Given the description of an element on the screen output the (x, y) to click on. 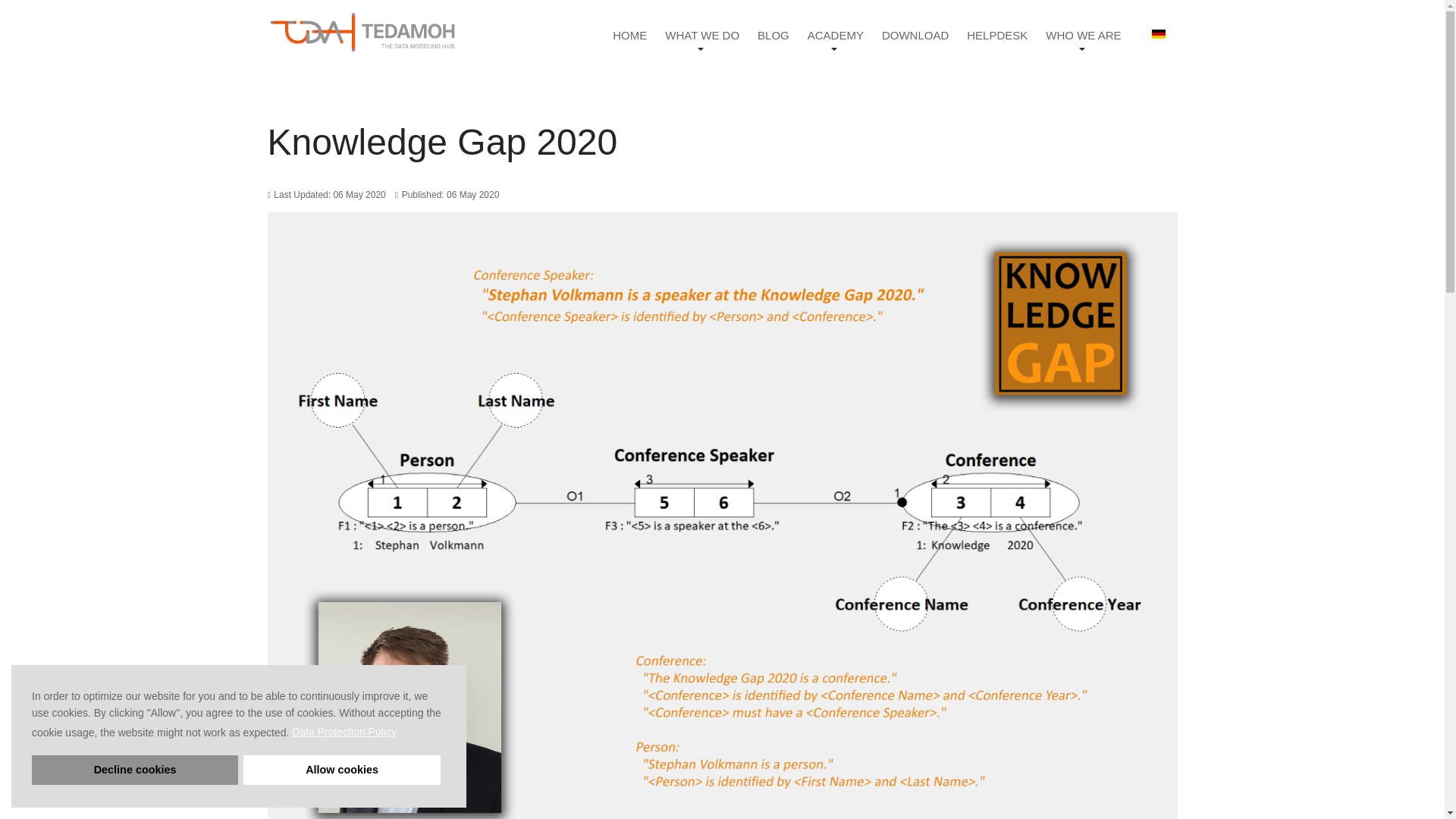
Decline cookies (135, 769)
WHAT WE DO (702, 41)
Allow cookies (341, 769)
WHO WE ARE (1083, 41)
Deutsch (1157, 33)
Data Protection Policy (345, 731)
HELPDESK (996, 41)
DOWNLOAD (915, 41)
ACADEMY (835, 41)
